Given the description of an element on the screen output the (x, y) to click on. 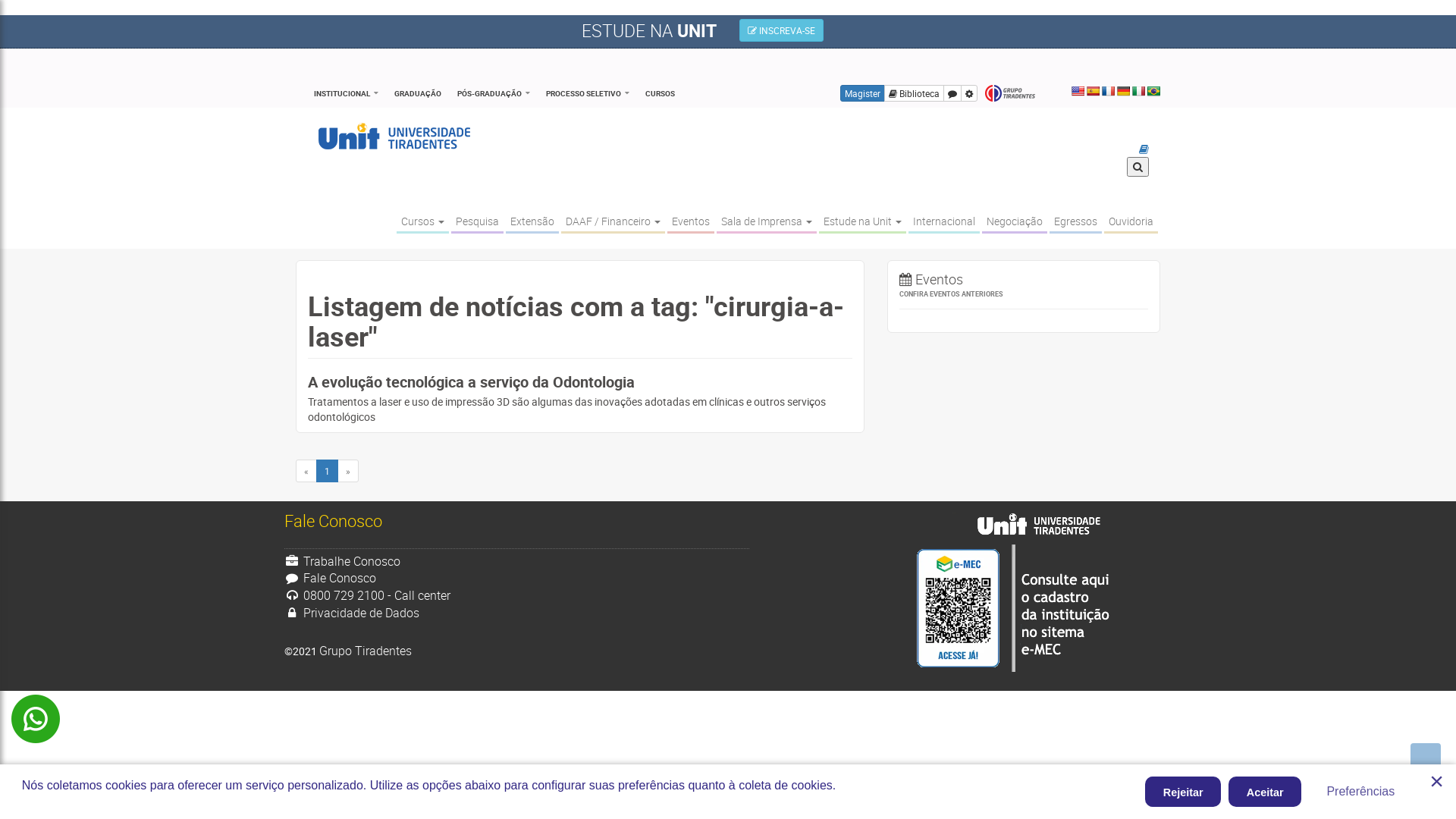
Grupo Tiradentes Element type: text (1010, 93)
French Element type: hover (1107, 90)
Internacional Element type: text (943, 221)
Grupo Tiradentes Element type: text (365, 650)
German Element type: hover (1122, 90)
DAAF / Financeiro Element type: text (613, 221)
1
(current) Element type: text (327, 470)
Ouvidoria Element type: text (1130, 221)
Biblioteca Element type: text (914, 92)
Cursos Element type: text (422, 221)
Eventos Element type: text (690, 221)
Aceitar Element type: text (1264, 791)
Estude na Unit Element type: text (862, 221)
Italian Element type: hover (1138, 90)
Sala de Imprensa Element type: text (766, 221)
INSCREVA-SE Element type: text (781, 29)
Fale Conosco Element type: text (330, 577)
INSTITUCIONAL Element type: text (346, 92)
Pesquisa Element type: text (477, 221)
Egressos Element type: text (1075, 221)
CURSOS Element type: text (659, 92)
PROCESSO SELETIVO Element type: text (587, 92)
exibir/esconder Element type: text (968, 92)
Portuguese Element type: hover (1153, 90)
Privacidade de Dados Element type: text (351, 612)
0800 729 2100 - Call center Element type: text (367, 594)
Magister Element type: text (862, 92)
CONFIRA EVENTOS ANTERIORES Element type: text (1023, 294)
English Element type: hover (1077, 90)
Spanish Element type: hover (1092, 90)
Rejeitar Element type: text (1182, 791)
Trabalhe Conosco Element type: text (342, 560)
